Given the description of an element on the screen output the (x, y) to click on. 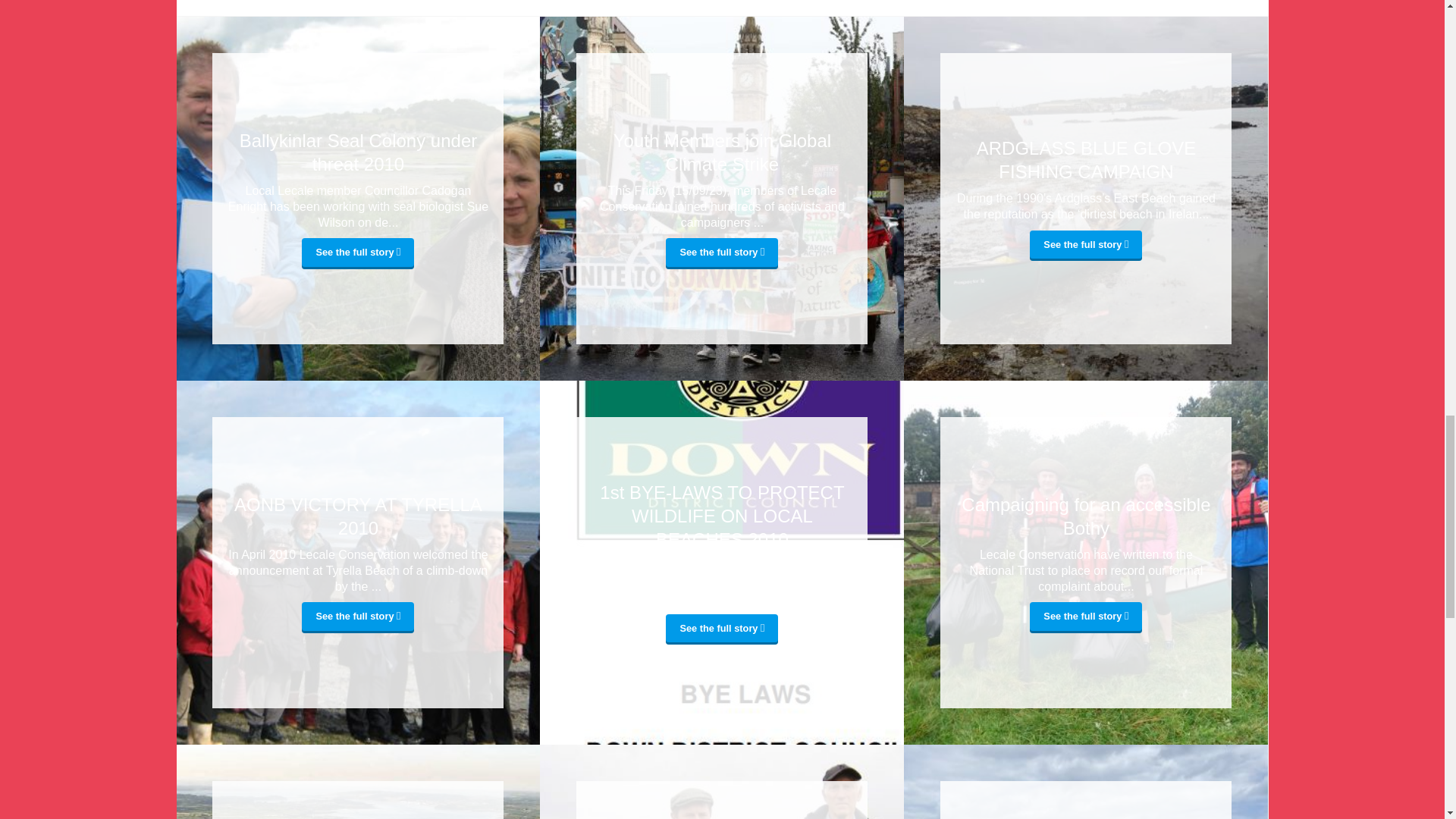
Youth Members join Global Climate Strike (721, 253)
Youth Members join Global Climate Strike (721, 152)
1st BYE-LAWS TO PROTECT WILDLIFE ON LOCAL BEACHES 2010 (721, 629)
AONB VICTORY AT TYRELLA 2010 (357, 616)
AONB VICTORY AT TYRELLA 2010 (357, 516)
Youth Members join Global Climate Strike (721, 152)
ARDGLASS BLUE GLOVE FISHING CAMPAIGN (1085, 245)
See the full story (721, 253)
See the full story (1085, 616)
Campaigning for an accessible Bothy (1085, 516)
